Given the description of an element on the screen output the (x, y) to click on. 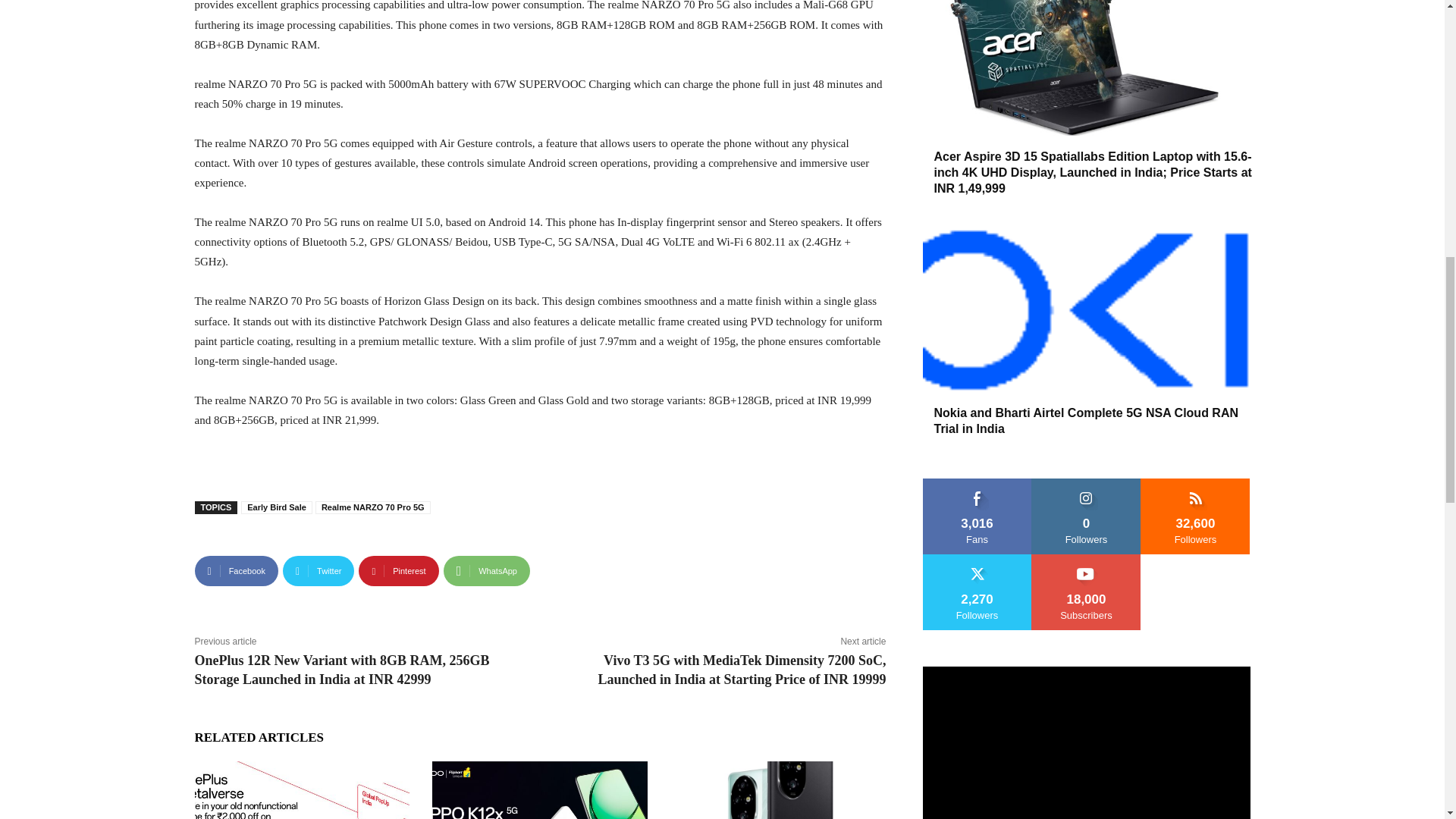
Twitter (318, 571)
Facebook (235, 571)
Pinterest (398, 571)
Facebook (235, 571)
Twitter (318, 571)
WhatsApp (486, 571)
Realme NARZO 70 Pro 5G (372, 507)
WhatsApp (486, 571)
Pinterest (398, 571)
Early Bird Sale (277, 507)
